Given the description of an element on the screen output the (x, y) to click on. 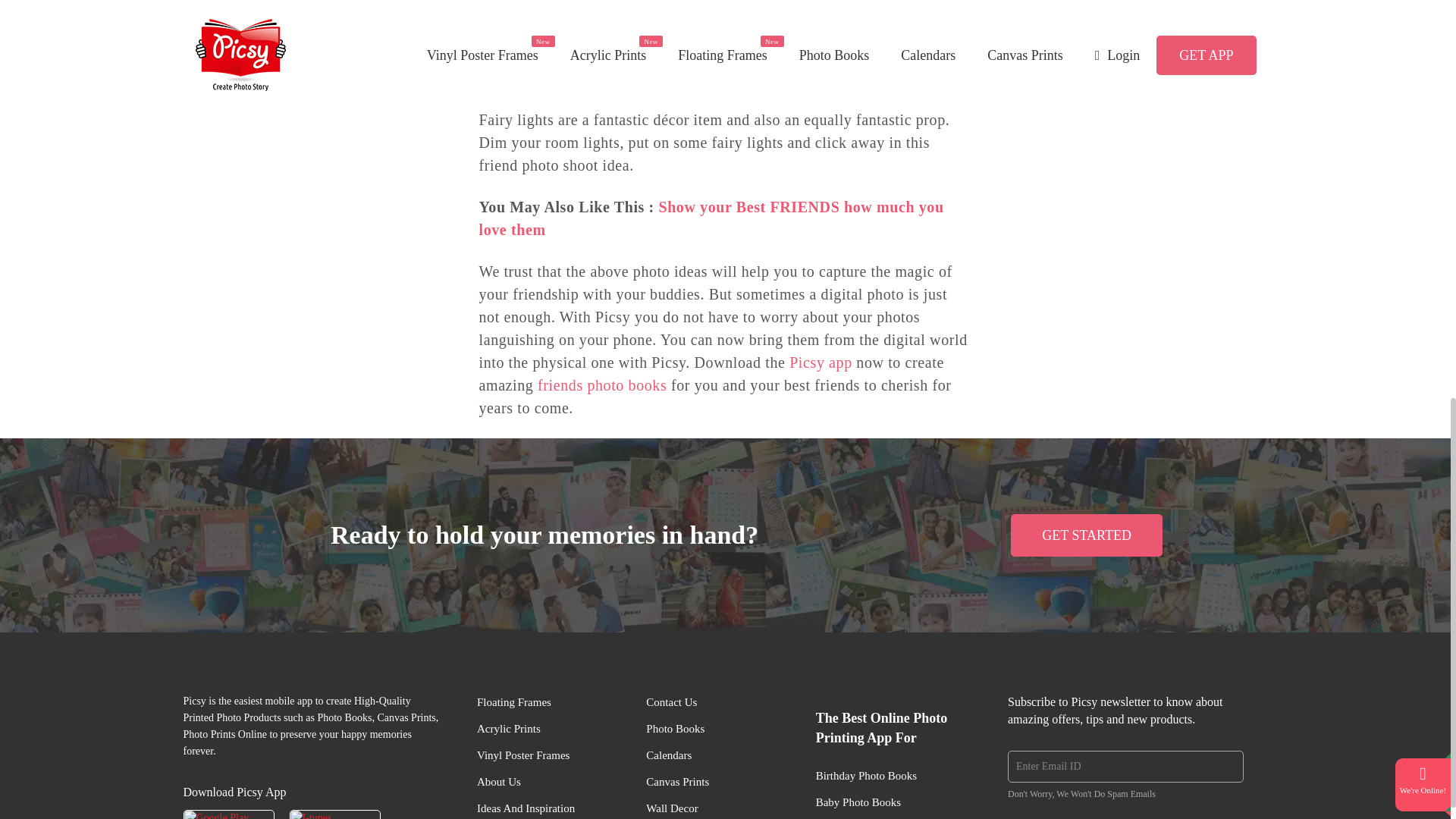
Floating Frames (514, 701)
Vinyl Poster Frames (523, 755)
Show your Best FRIENDS how much you love them (711, 218)
friends photo books (601, 384)
Picsy app (820, 362)
Get Started (1085, 535)
friends photo books (601, 384)
Photo Books (675, 728)
Google Play (229, 814)
GET STARTED (1085, 535)
Contact Us (671, 701)
I-tunes (334, 814)
Ideas And Inspiration (526, 808)
Show your Best FRIENDS how much you love them (711, 218)
About Us (499, 782)
